Given the description of an element on the screen output the (x, y) to click on. 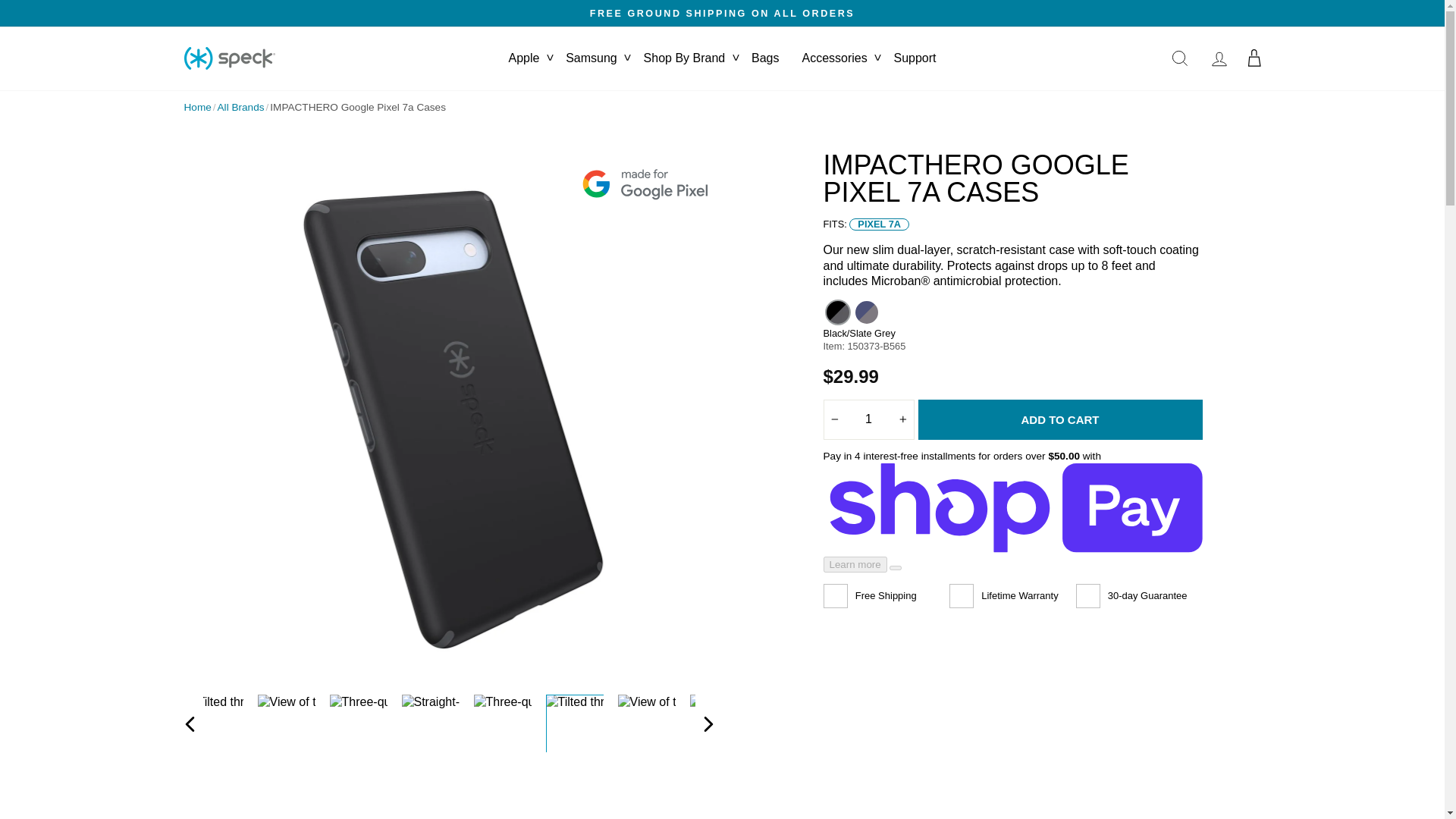
Cart (1253, 58)
1 (869, 419)
Back to the frontpage (197, 107)
Account (1219, 58)
Search (1180, 57)
